Given the description of an element on the screen output the (x, y) to click on. 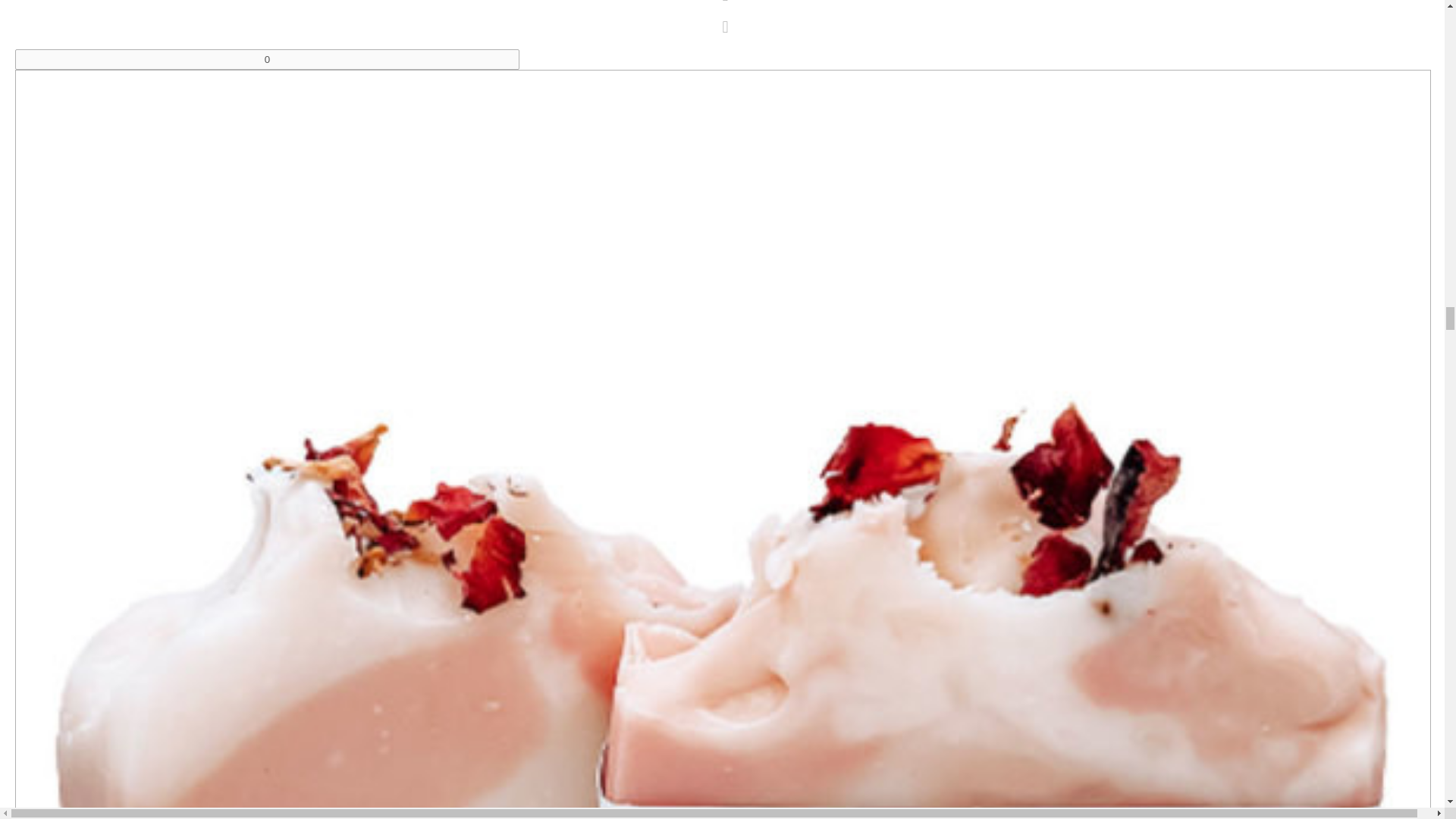
0 (266, 59)
